Given the description of an element on the screen output the (x, y) to click on. 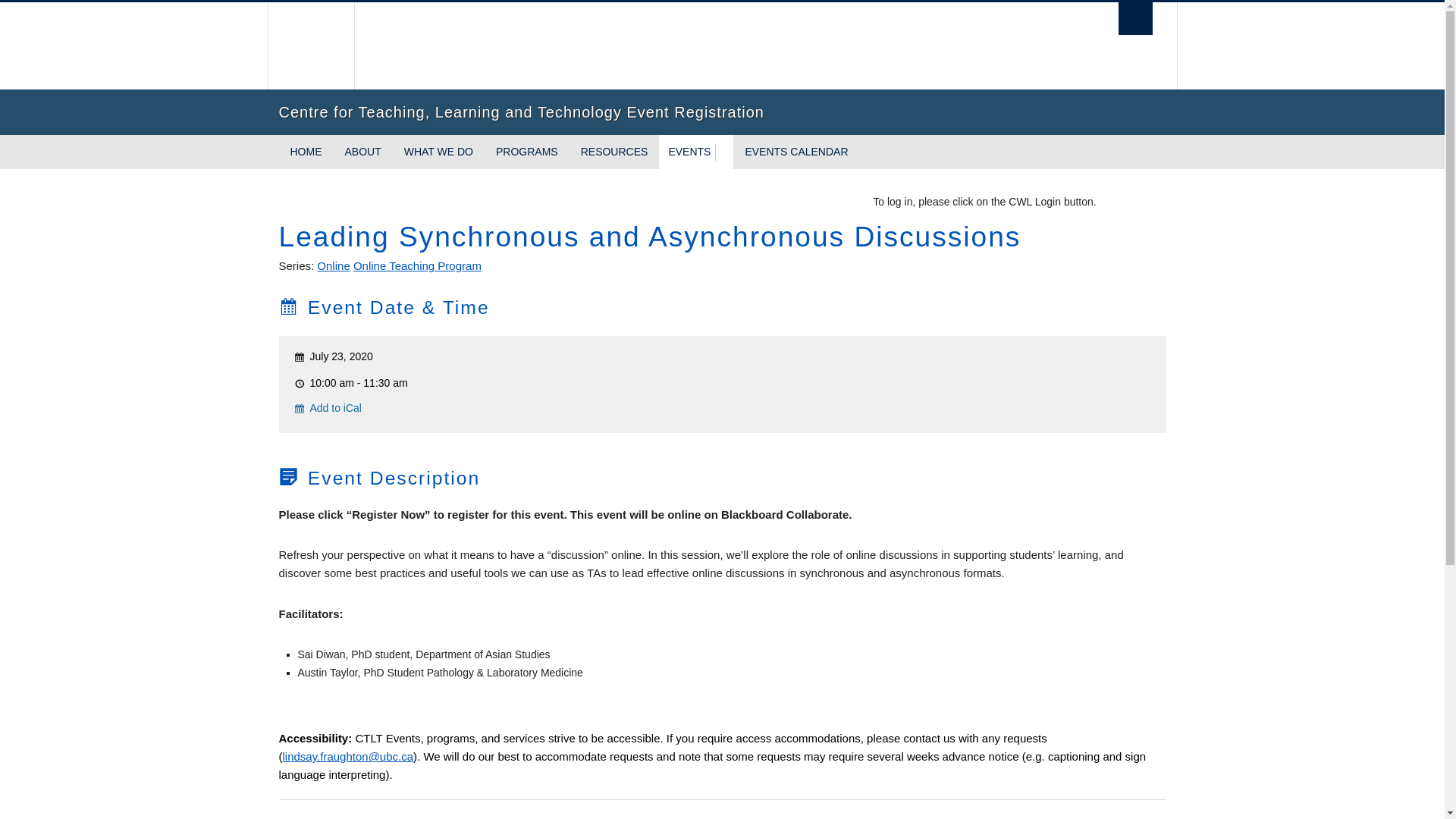
ABOUT (363, 151)
HOME (306, 151)
Log into this account (1134, 201)
The University of British Columbia (635, 45)
Log in (1134, 201)
UBC Search (1135, 18)
WHAT WE DO (438, 151)
PROGRAMS (526, 151)
The University of British Columbia (309, 45)
